Given the description of an element on the screen output the (x, y) to click on. 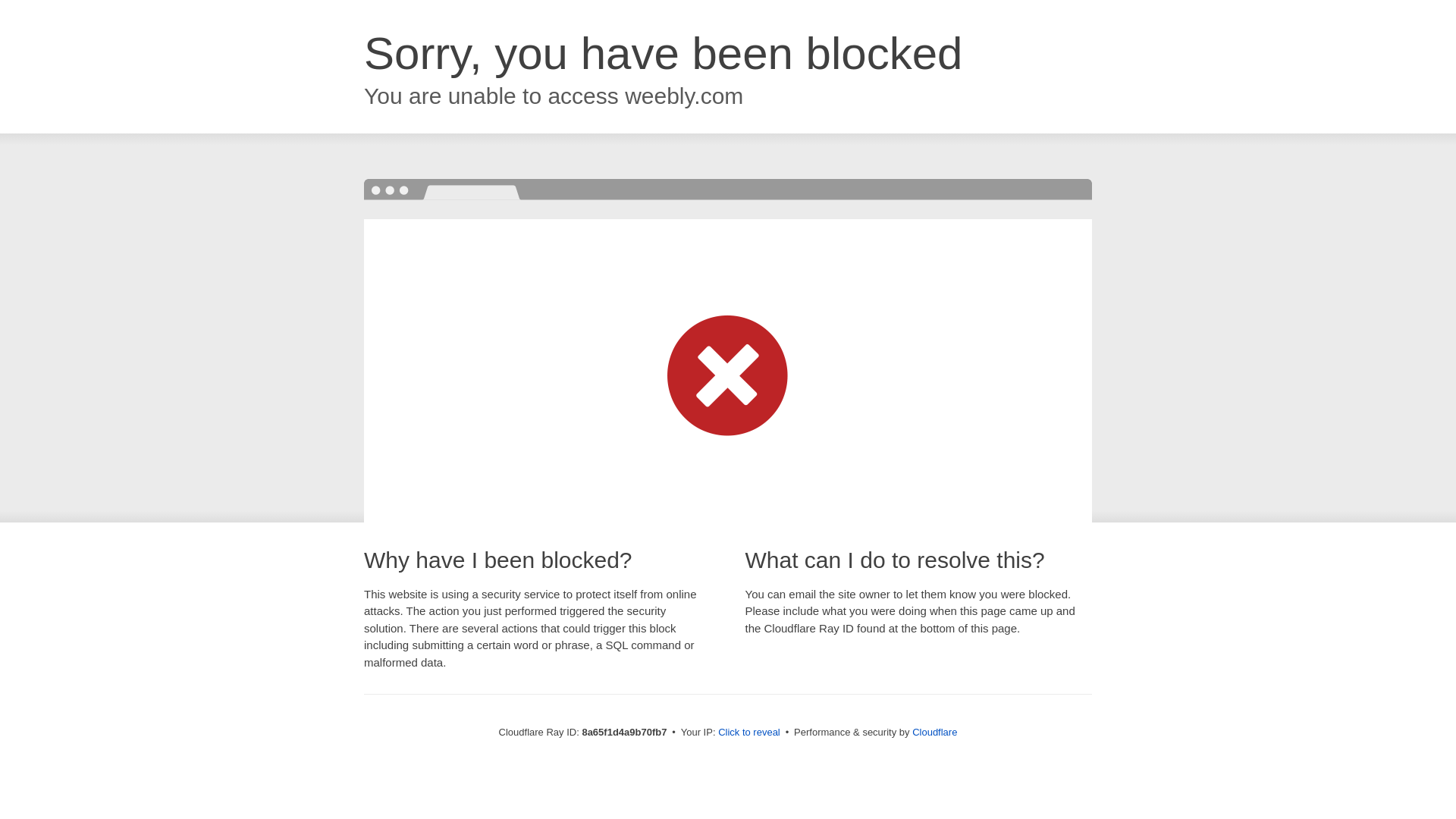
Click to reveal (748, 732)
Cloudflare (934, 731)
